Given the description of an element on the screen output the (x, y) to click on. 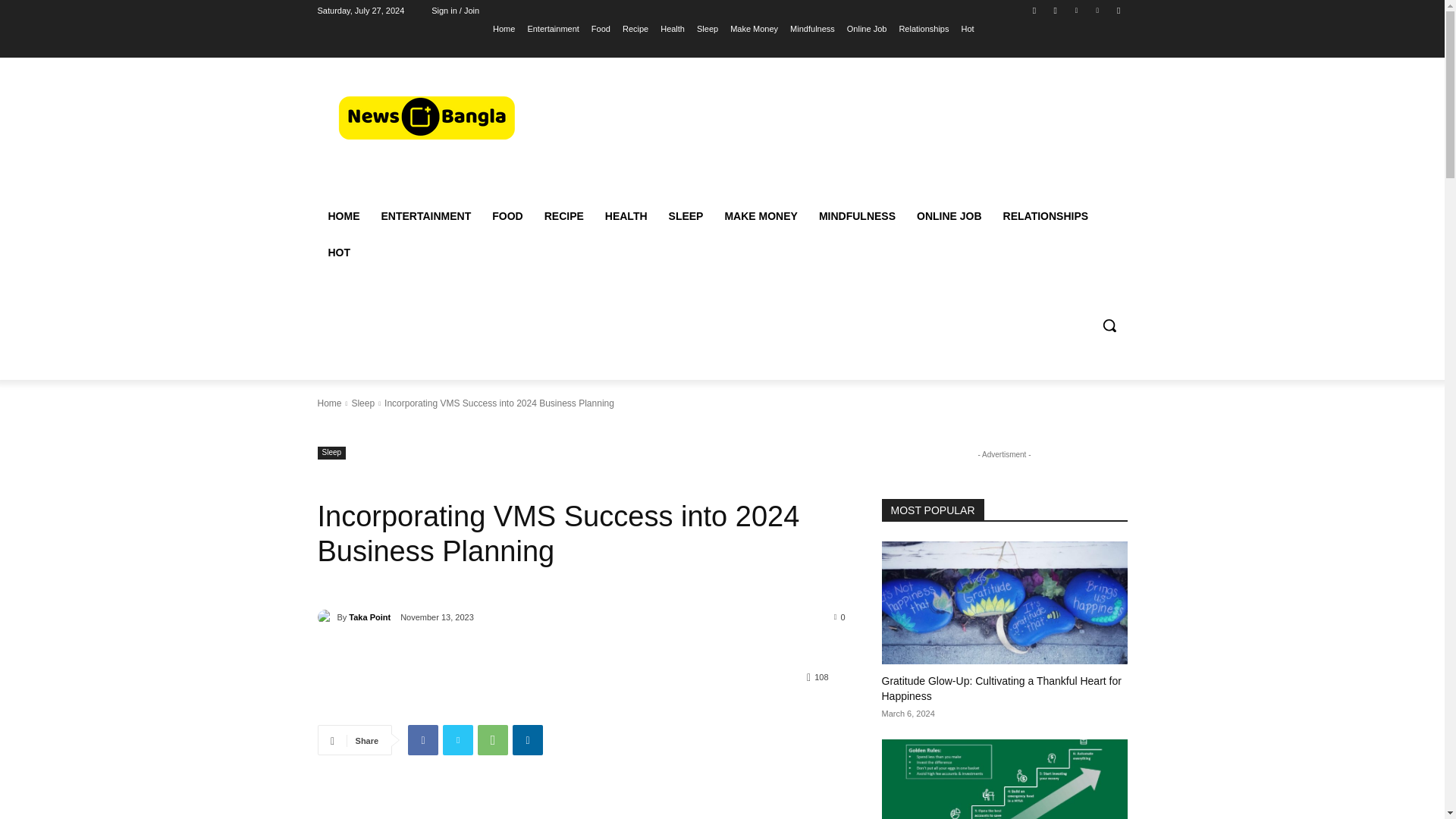
HEALTH (626, 216)
Online Job (866, 28)
SLEEP (686, 216)
Vimeo (1097, 9)
Facebook (422, 739)
Health (672, 28)
Instagram (1055, 9)
Hot (967, 28)
Sleep (707, 28)
Taka Point (326, 616)
Food (600, 28)
MAKE MONEY (760, 216)
RECIPE (564, 216)
Relationships (923, 28)
Recipe (635, 28)
